Given the description of an element on the screen output the (x, y) to click on. 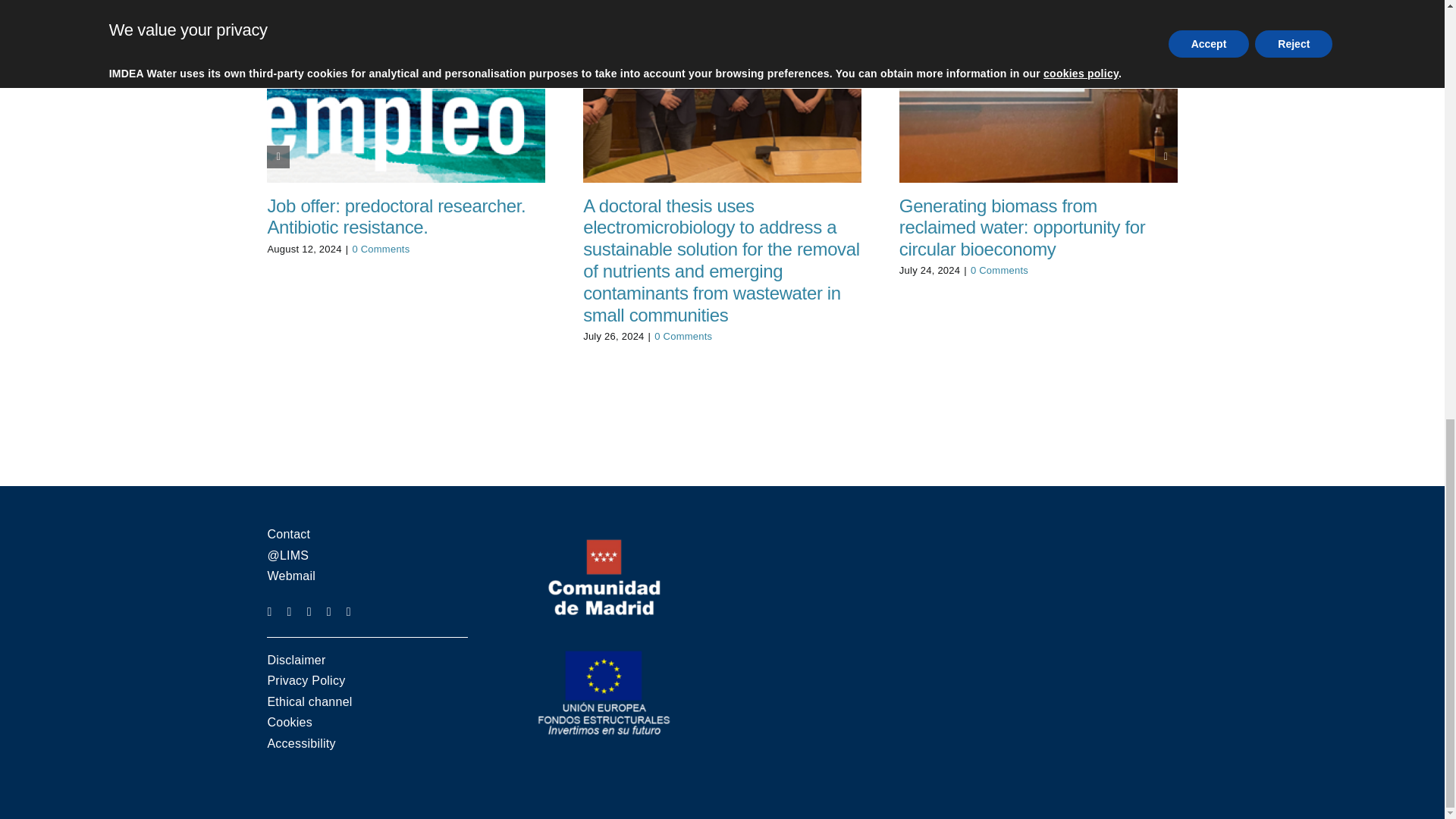
Job offer: predoctoral researcher. Antibiotic resistance. (395, 216)
